Given the description of an element on the screen output the (x, y) to click on. 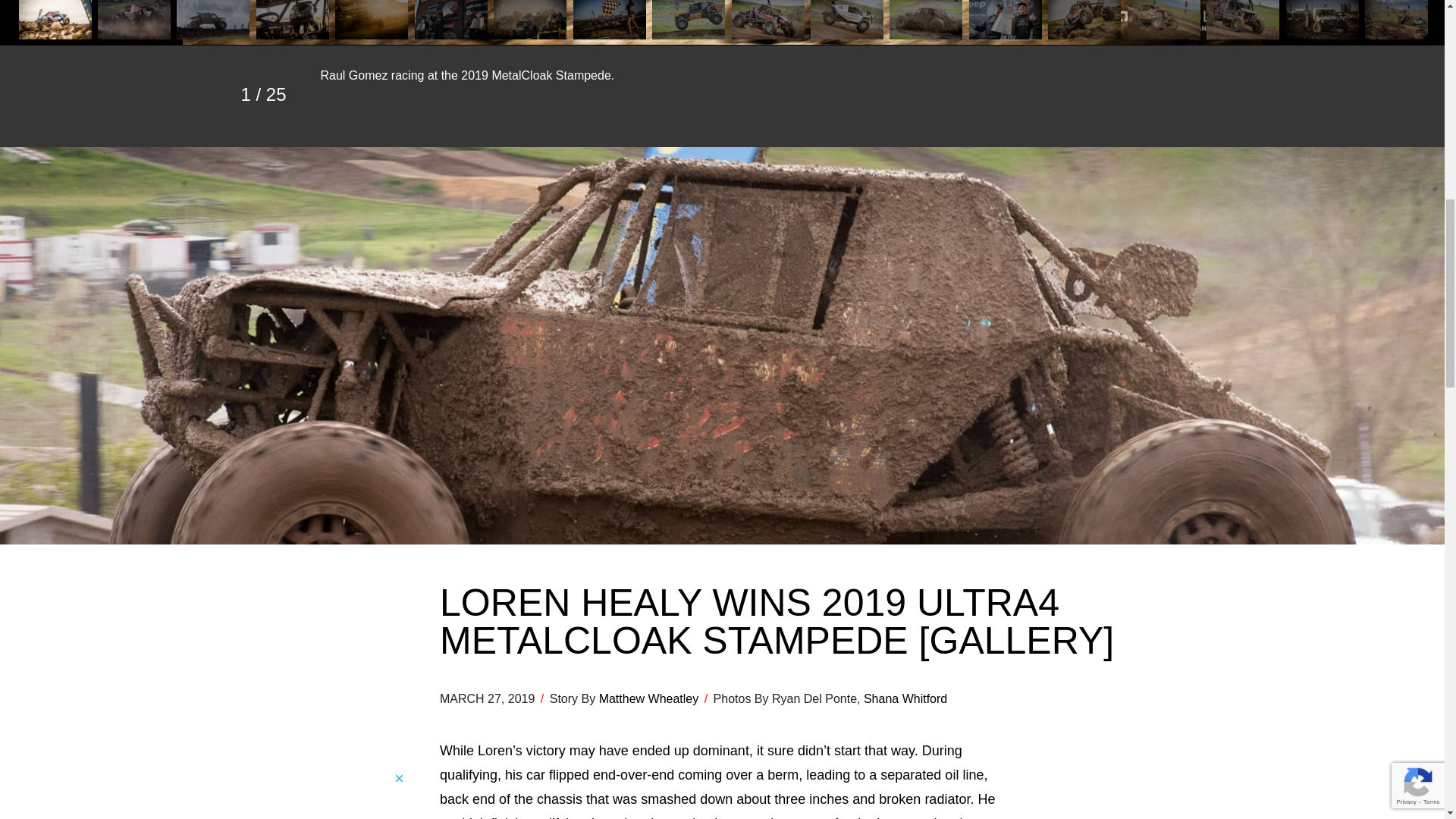
3rd party ad content (291, 795)
